Given the description of an element on the screen output the (x, y) to click on. 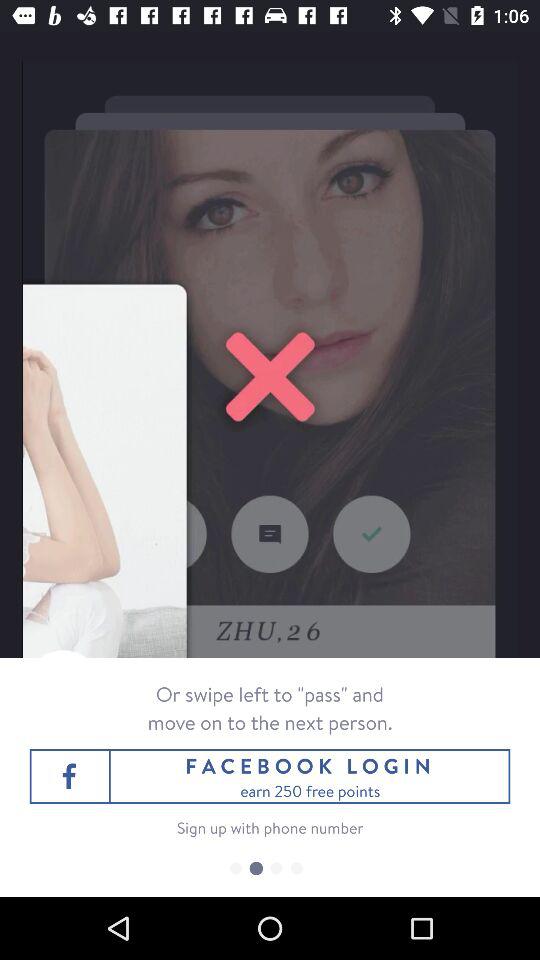
turn off the sign up with item (269, 827)
